Given the description of an element on the screen output the (x, y) to click on. 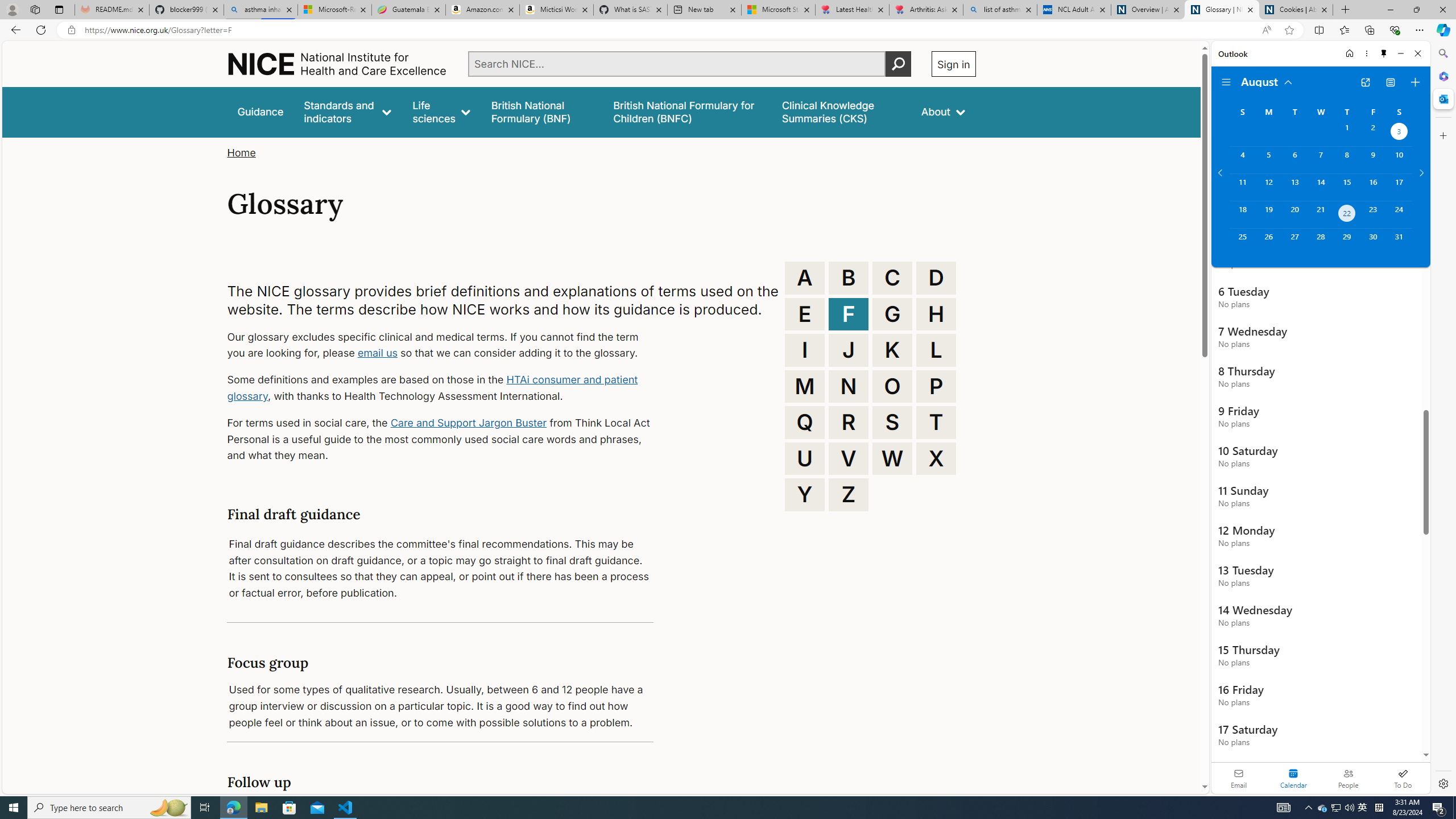
Saturday, August 10, 2024.  (1399, 159)
X (935, 458)
Open in new tab (1365, 82)
Friday, August 30, 2024.  (1372, 241)
Glossary | NICE (1221, 9)
C (892, 277)
O (892, 385)
email us (376, 353)
R (848, 422)
